Given the description of an element on the screen output the (x, y) to click on. 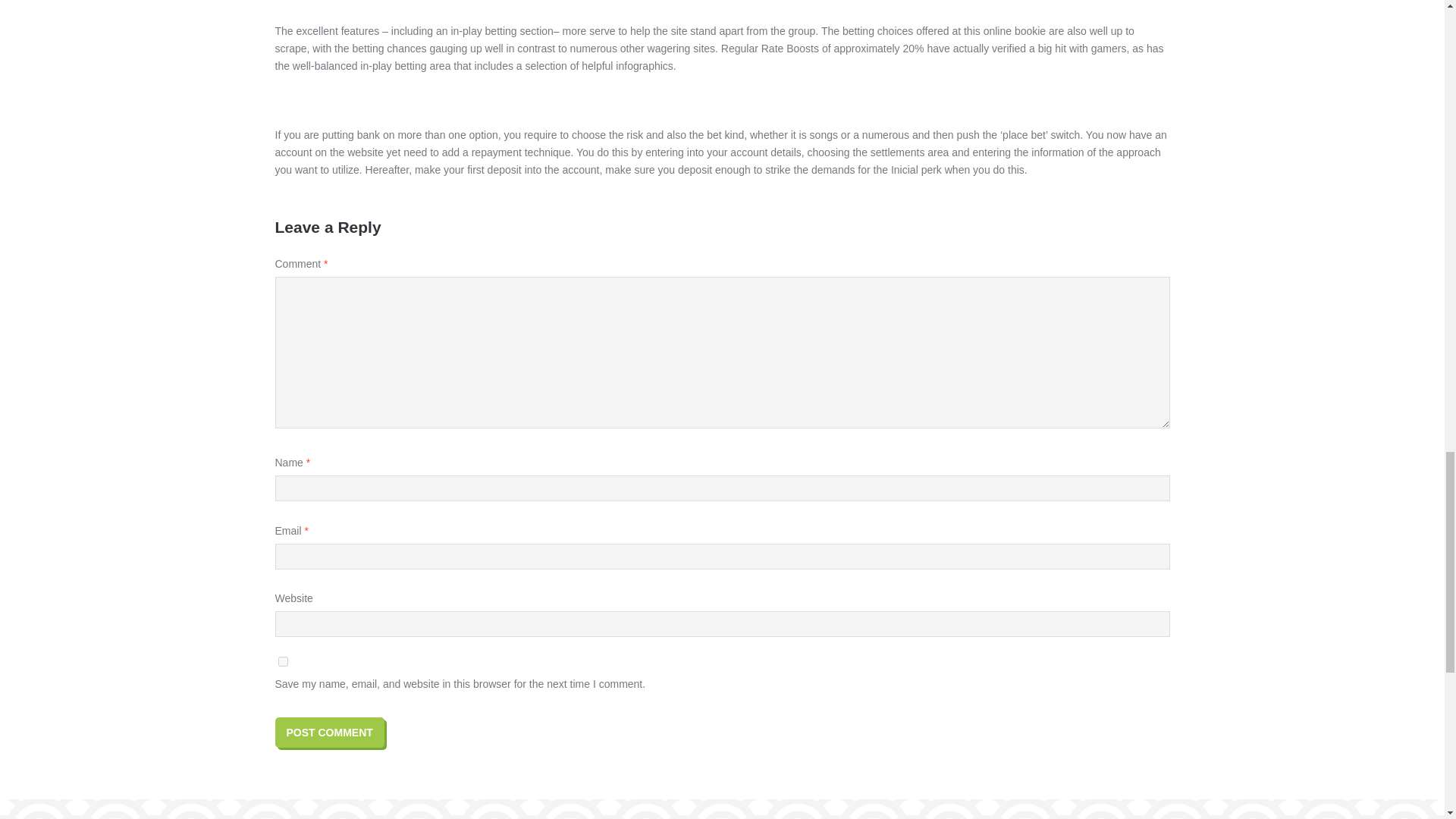
yes (282, 661)
Post Comment (329, 732)
Post Comment (329, 732)
